Given the description of an element on the screen output the (x, y) to click on. 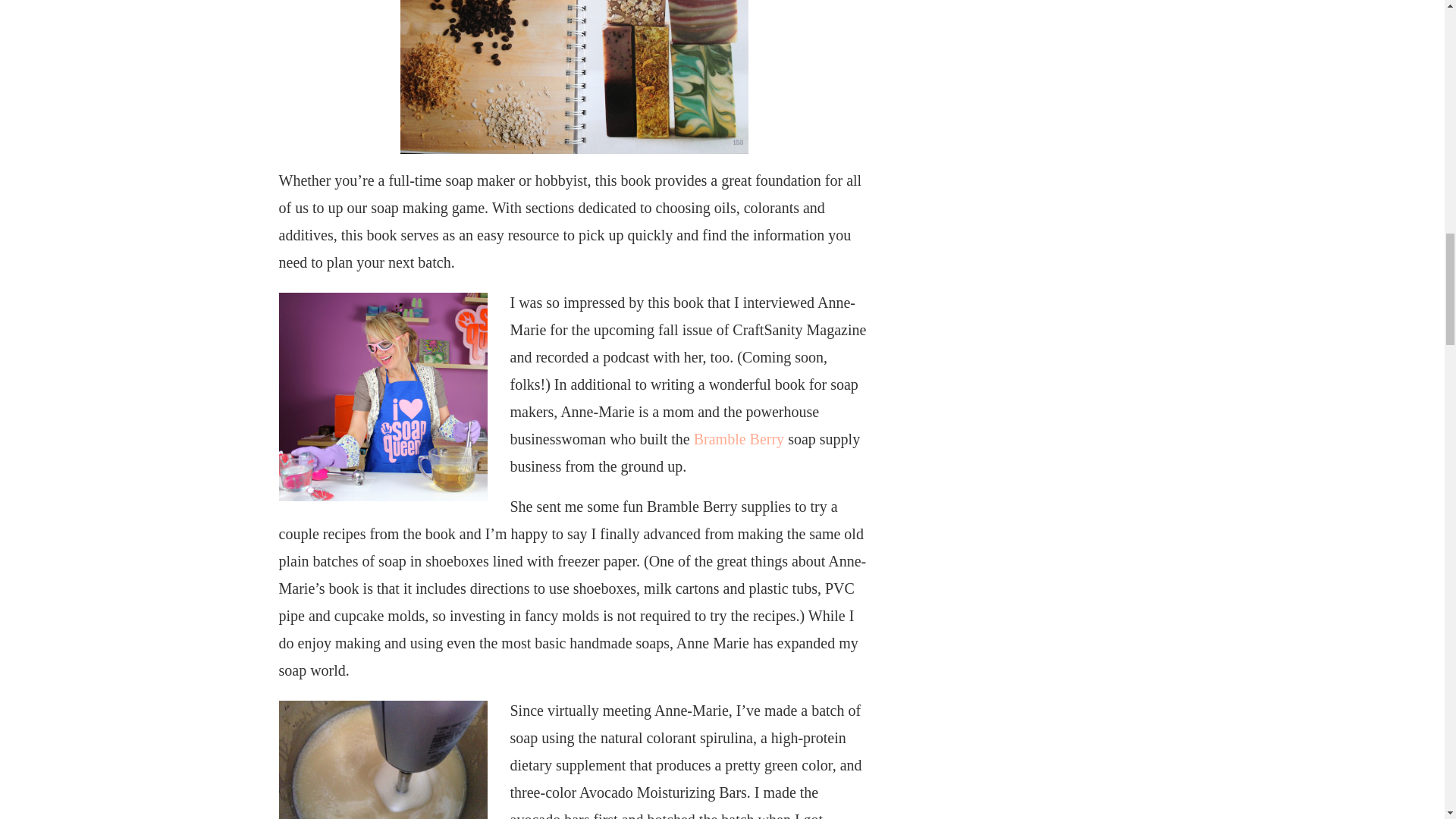
Bramble Berry (739, 438)
